Given the description of an element on the screen output the (x, y) to click on. 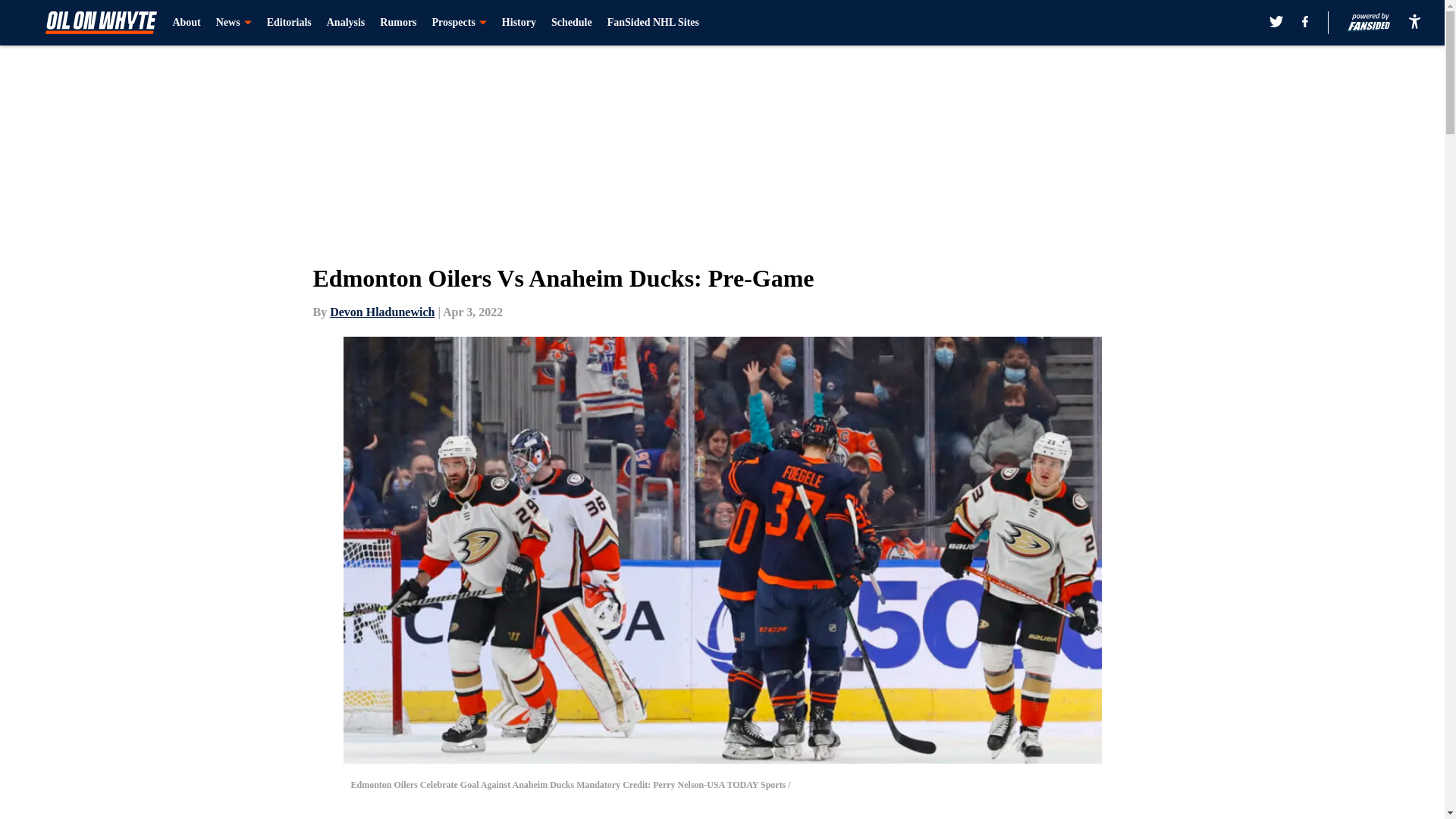
Schedule (571, 22)
Analysis (345, 22)
History (518, 22)
Editorials (288, 22)
Devon Hladunewich (381, 311)
FanSided NHL Sites (652, 22)
Rumors (398, 22)
About (185, 22)
